Given the description of an element on the screen output the (x, y) to click on. 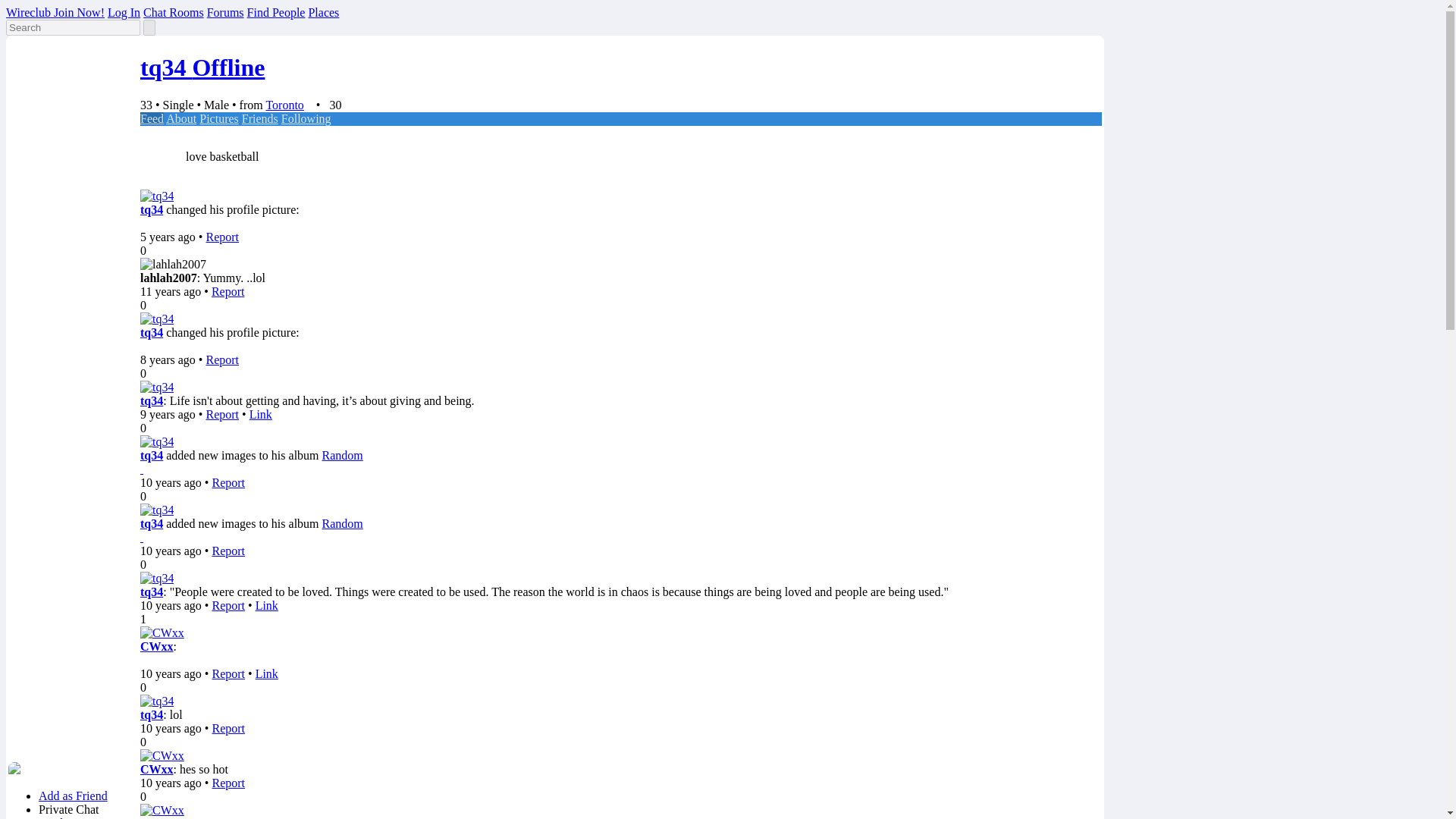
Join Now! (78, 11)
Report (221, 236)
Following (306, 118)
Feed (151, 118)
Find People (276, 11)
About (180, 118)
tq34 (151, 209)
Friends (259, 118)
Toronto (283, 104)
Wireclub (29, 11)
